Given the description of an element on the screen output the (x, y) to click on. 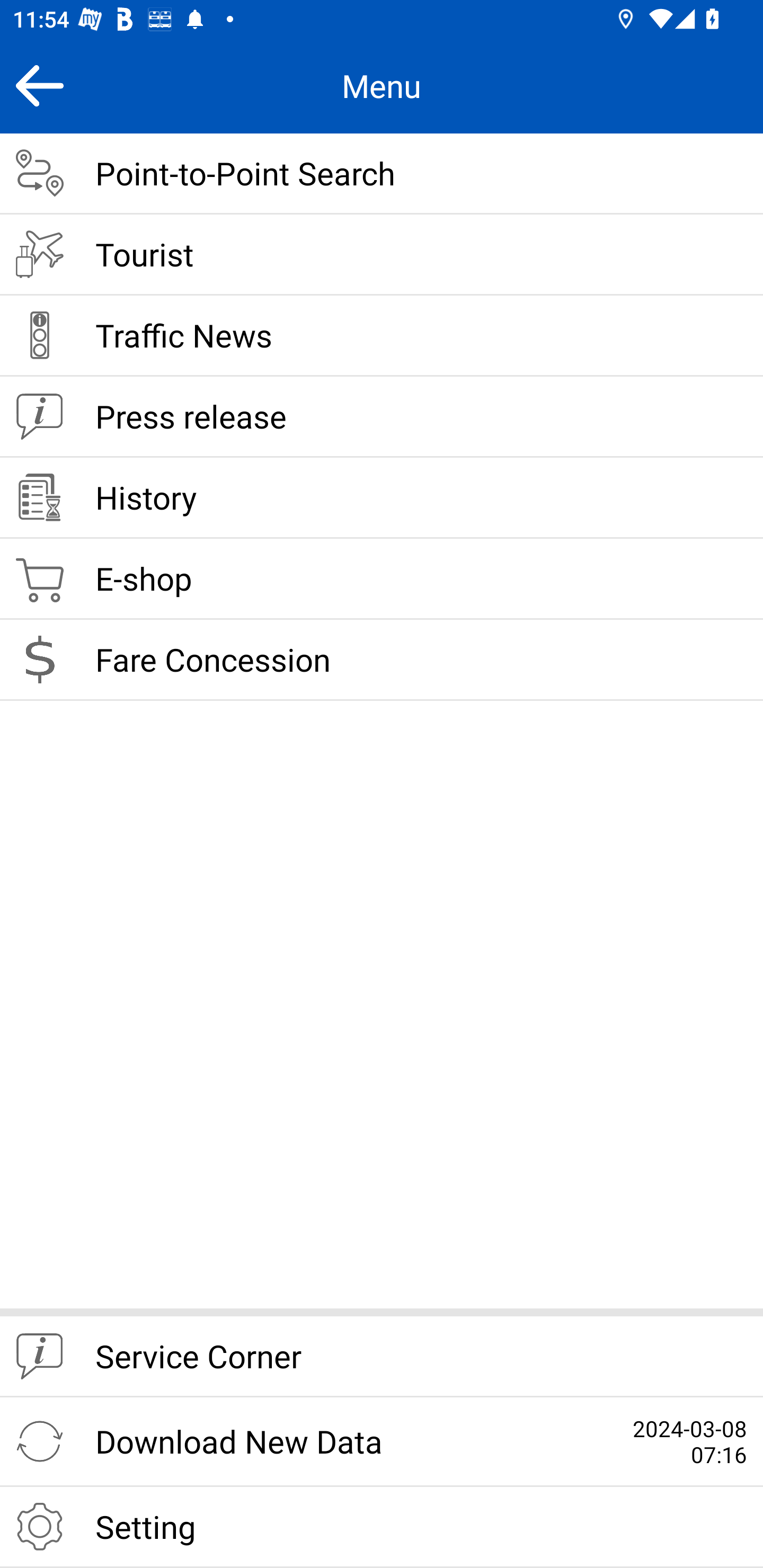
Back (39, 85)
Point-to-Point Search (381, 173)
Tourist (381, 255)
Traffic News (381, 336)
Press release (381, 416)
History (381, 498)
E-shop (381, 579)
Fare Concession (381, 659)
Service Corner (381, 1357)
Download New Data 2024-03-08
07:16 (381, 1441)
Setting (381, 1527)
